Given the description of an element on the screen output the (x, y) to click on. 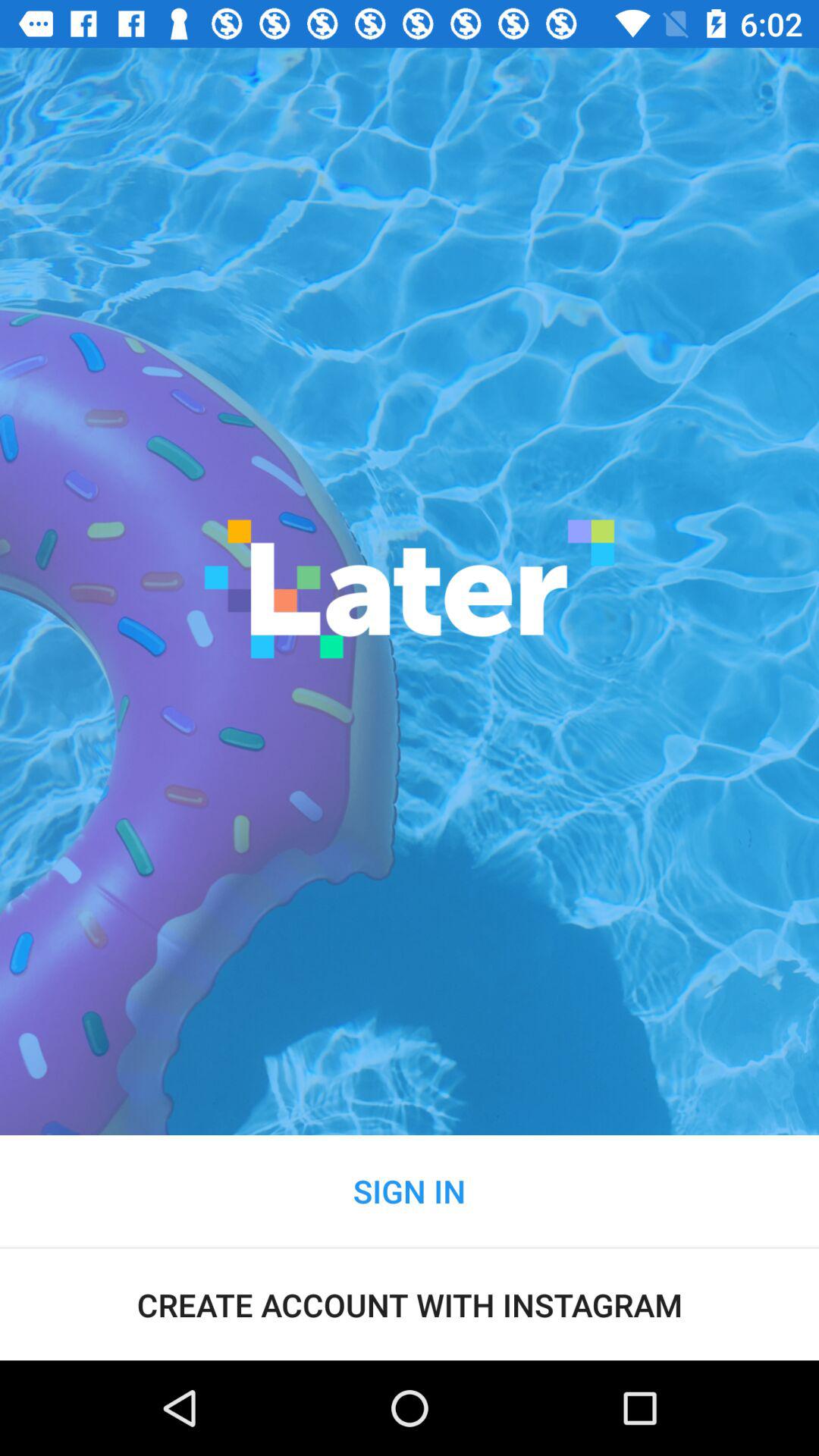
open the create account with (409, 1304)
